Given the description of an element on the screen output the (x, y) to click on. 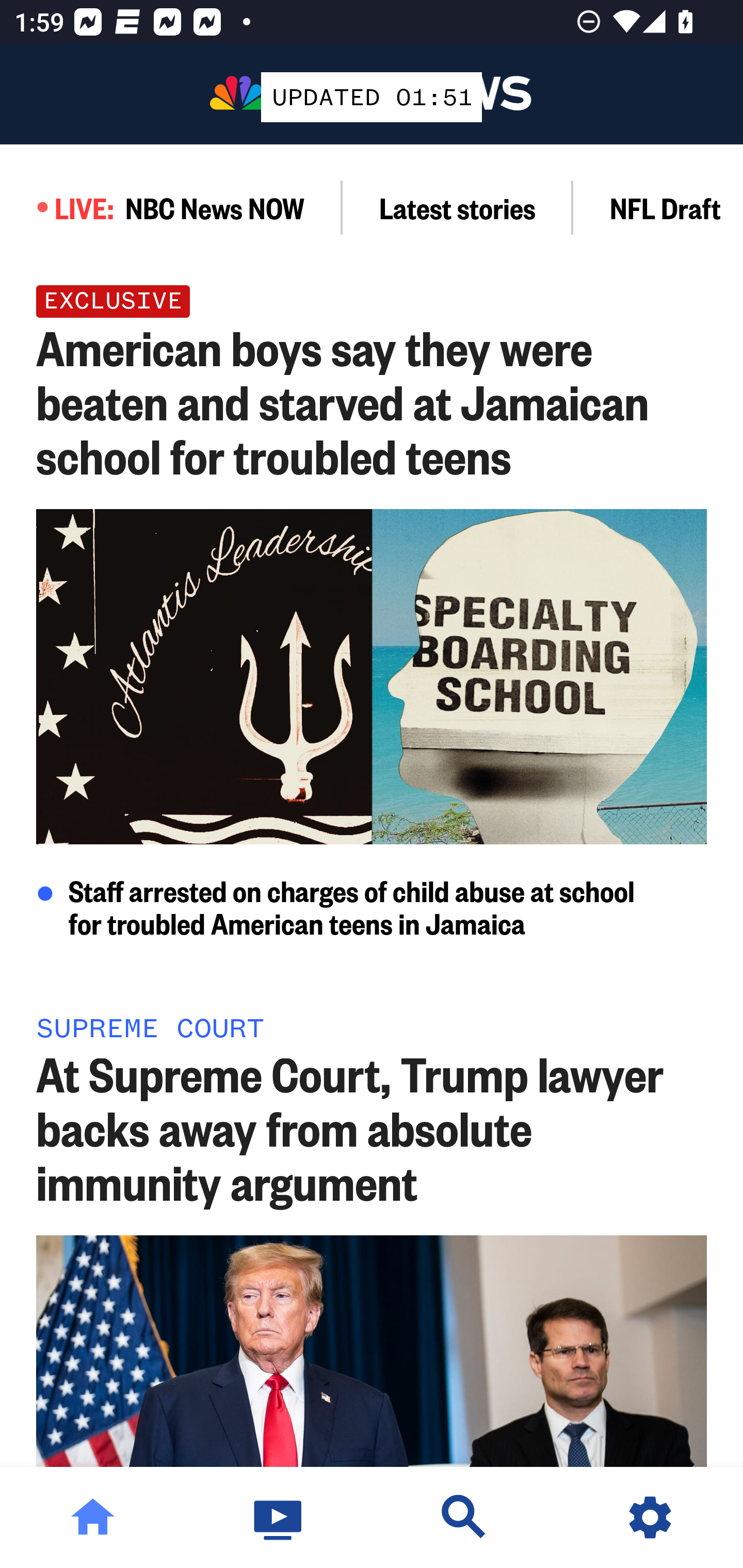
LIVE:  NBC News NOW (171, 207)
Latest stories Section,Latest stories (457, 207)
NFL Draft (658, 207)
Watch (278, 1517)
Discover (464, 1517)
Settings (650, 1517)
